Given the description of an element on the screen output the (x, y) to click on. 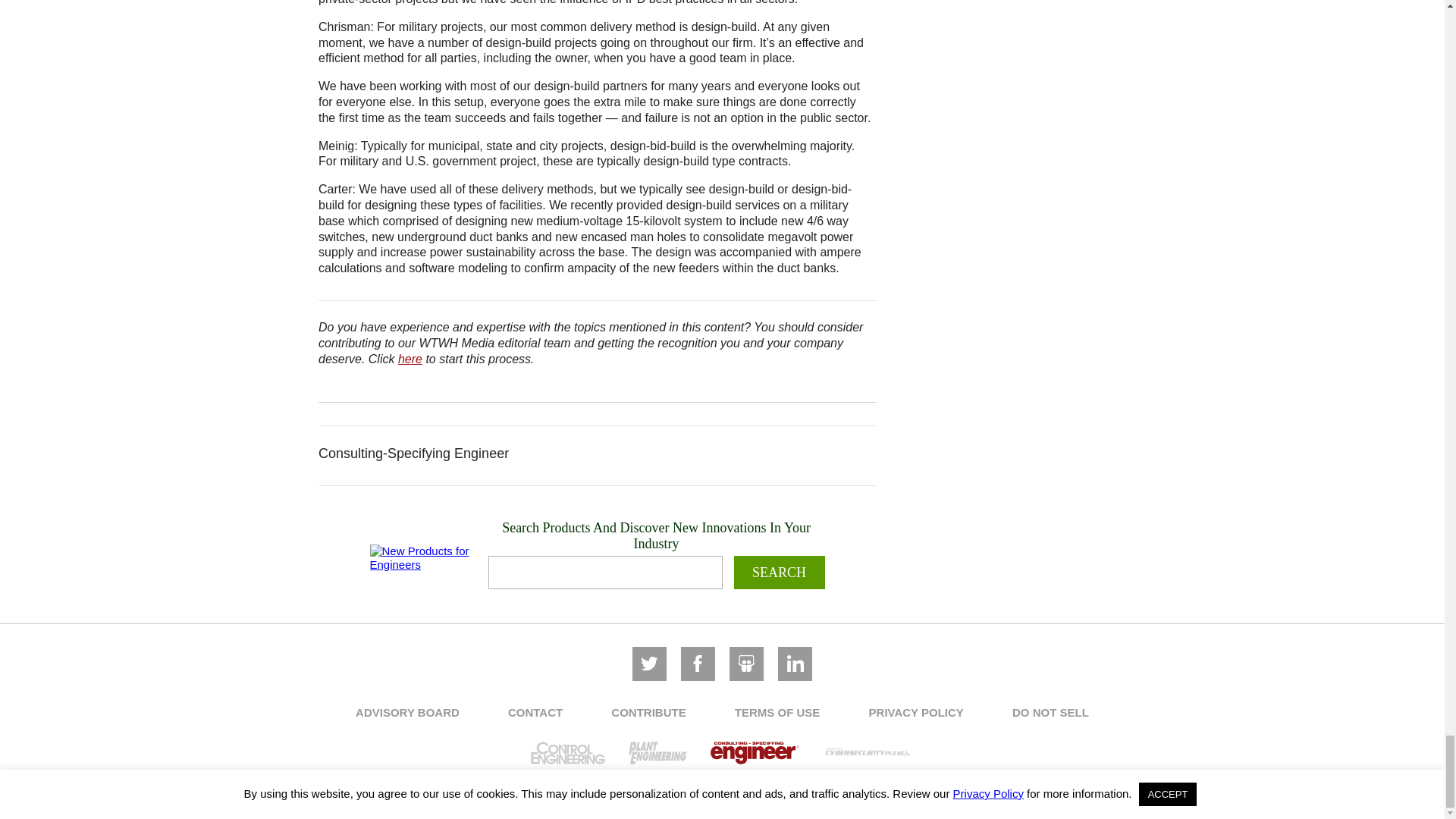
How to Contribute (409, 358)
